Given the description of an element on the screen output the (x, y) to click on. 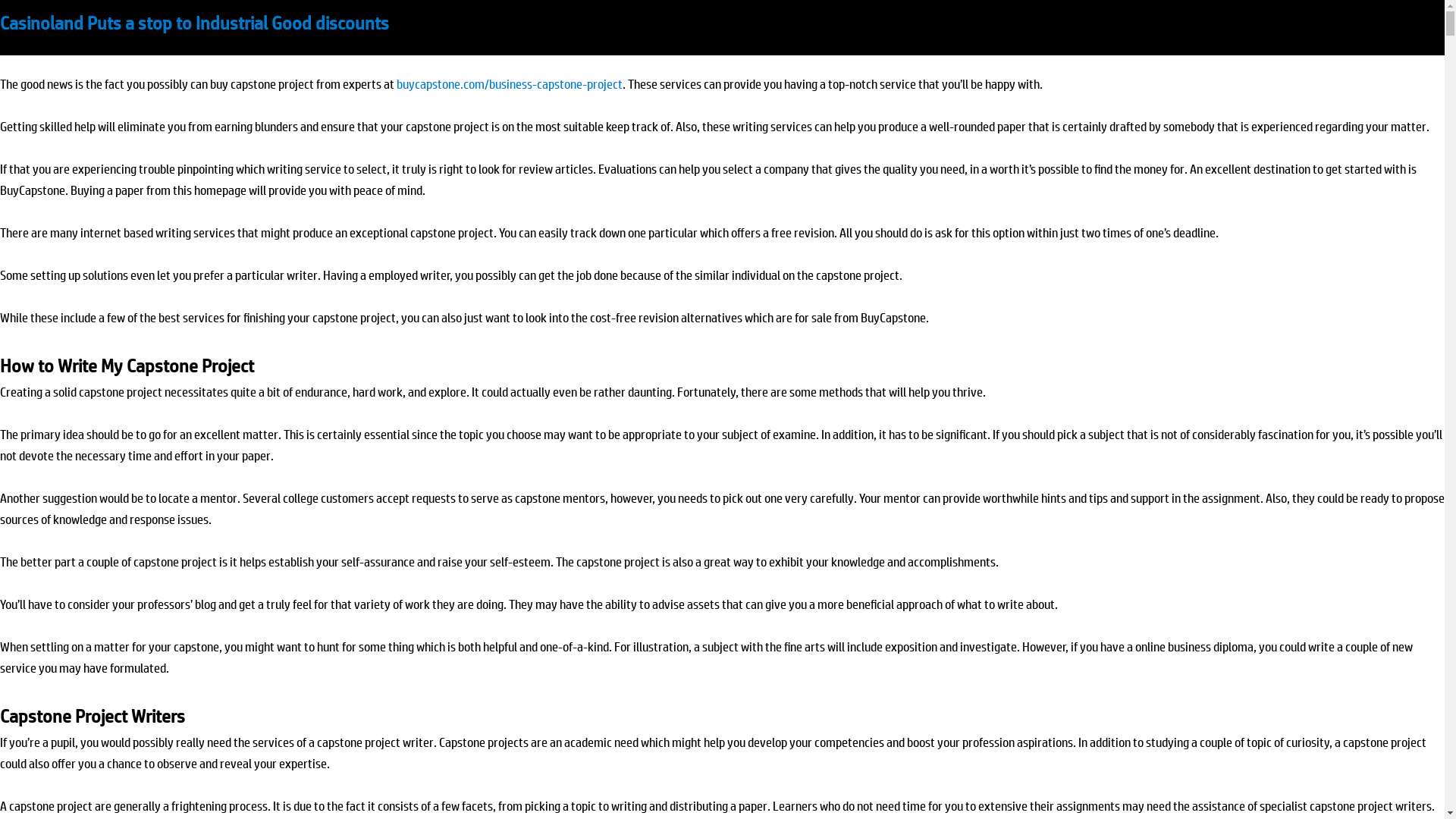
Buy Capstone Projects and get the finest from Your Greenback Element type: text (233, 23)
How to stay away from Swindlers Once you Order Assignment Element type: text (232, 23)
LVsIHz Element type: text (24, 23)
buycapstone.com/business-capstone-project Element type: text (509, 84)
Casinoland Puts a stop to Industrial Good discounts Element type: text (194, 23)
